Given the description of an element on the screen output the (x, y) to click on. 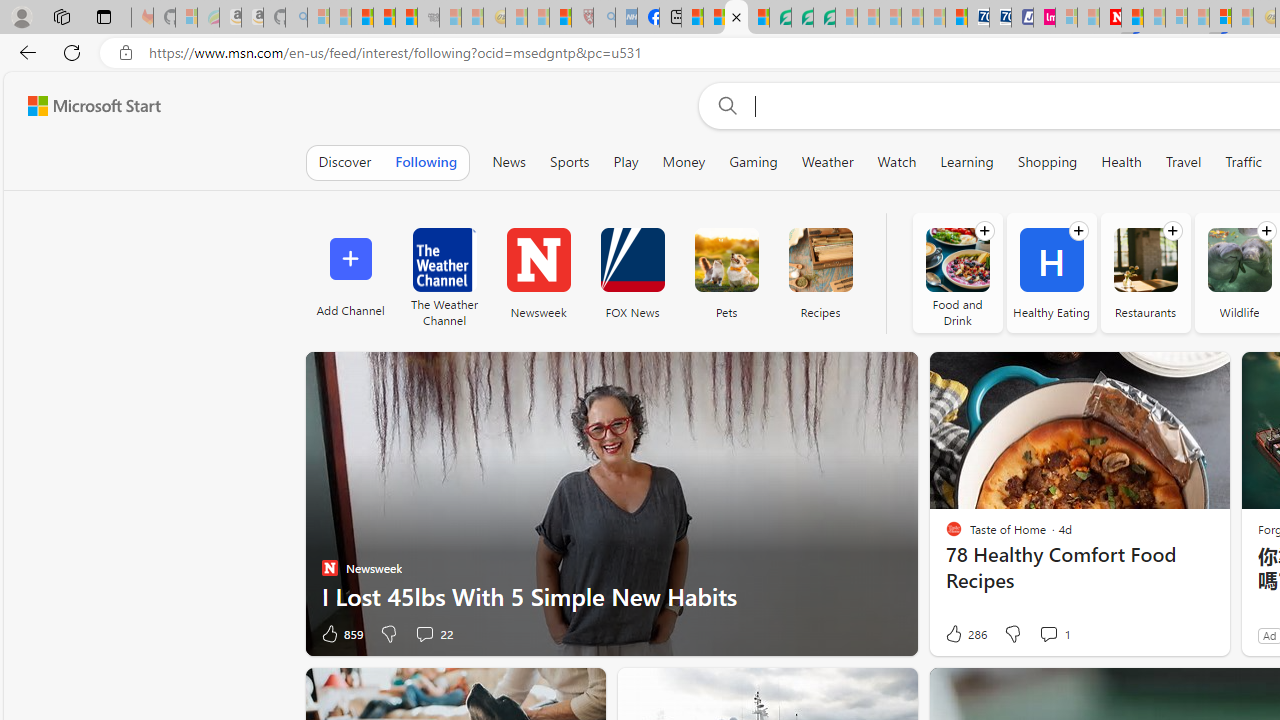
Restaurants (1144, 272)
Newsweek (537, 272)
Jobs - lastminute.com Investor Portal (1044, 17)
